Given the description of an element on the screen output the (x, y) to click on. 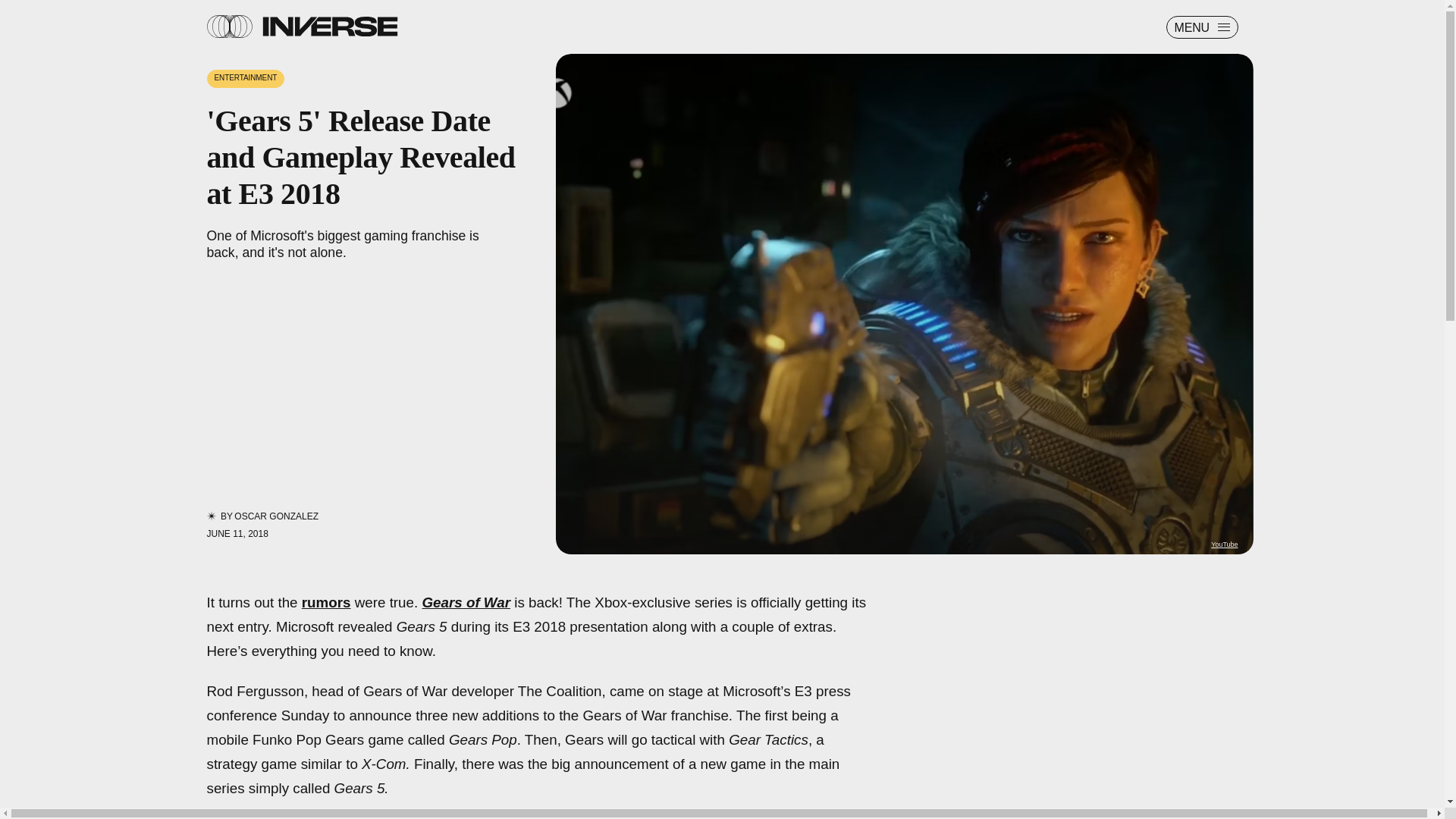
Inverse (328, 26)
YouTube (1224, 543)
rumors (325, 602)
OSCAR GONZALEZ (276, 515)
Gears of War (466, 602)
